Given the description of an element on the screen output the (x, y) to click on. 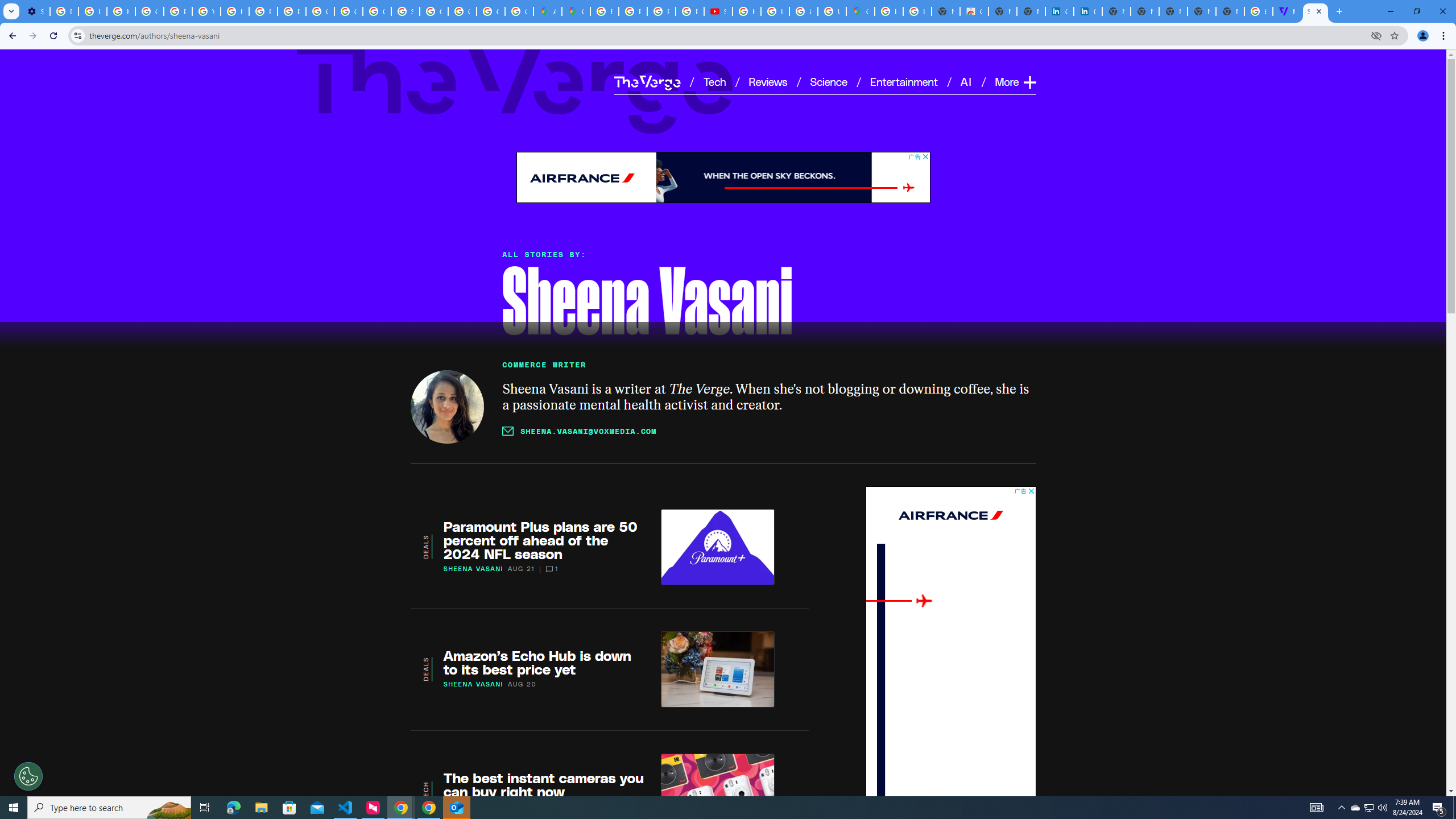
Sheena Vasani Profile and Activity - The Verge (1315, 11)
Privacy Help Center - Policies Help (661, 11)
DEALS (424, 668)
SHEENA VASANI (472, 683)
AI (966, 81)
Tech (714, 81)
YouTube (206, 11)
AutomationID: cbb (1030, 490)
Privacy Help Center - Policies Help (632, 11)
Sign in - Google Accounts (405, 11)
